Given the description of an element on the screen output the (x, y) to click on. 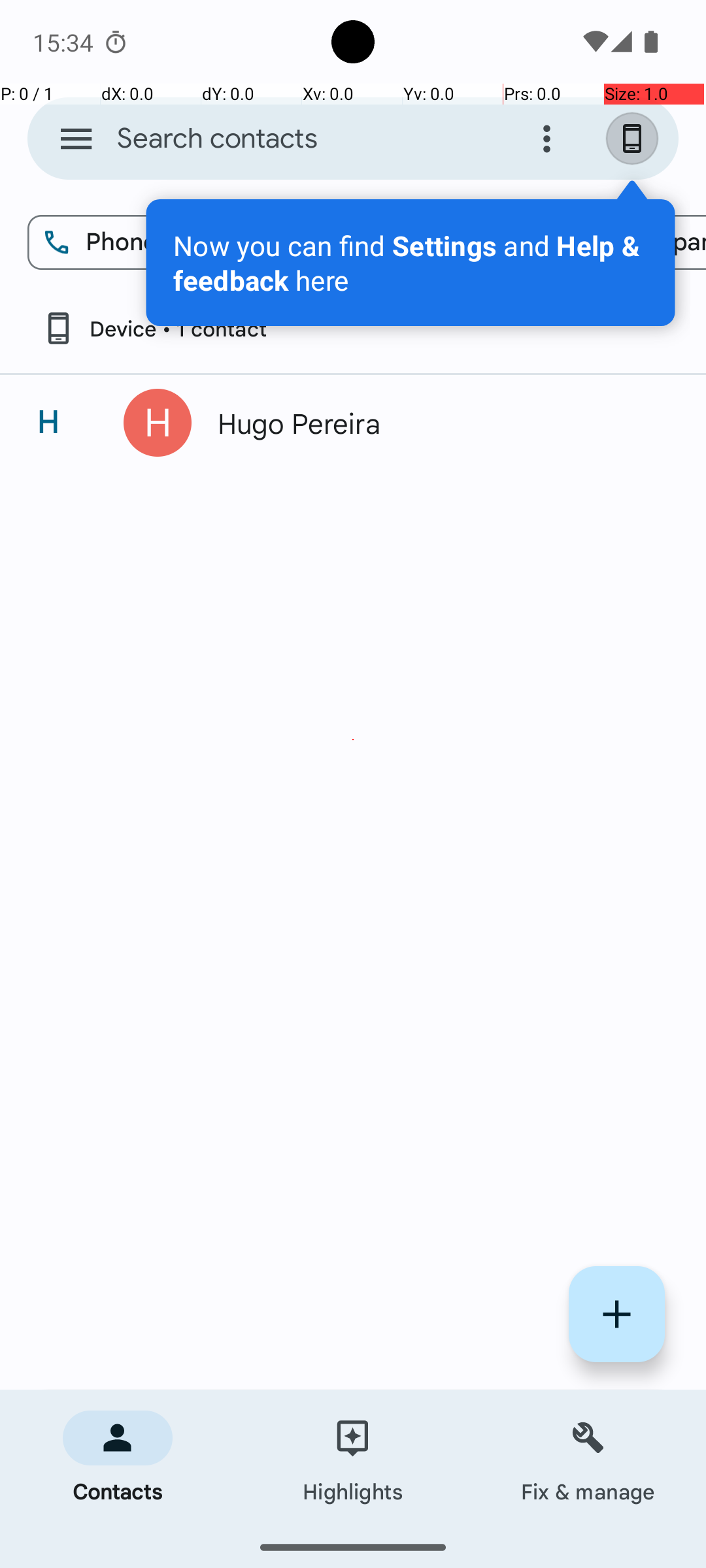
Device • 1 contact Element type: android.widget.TextView (153, 328)
Hugo Pereira Element type: android.widget.TextView (434, 422)
